Given the description of an element on the screen output the (x, y) to click on. 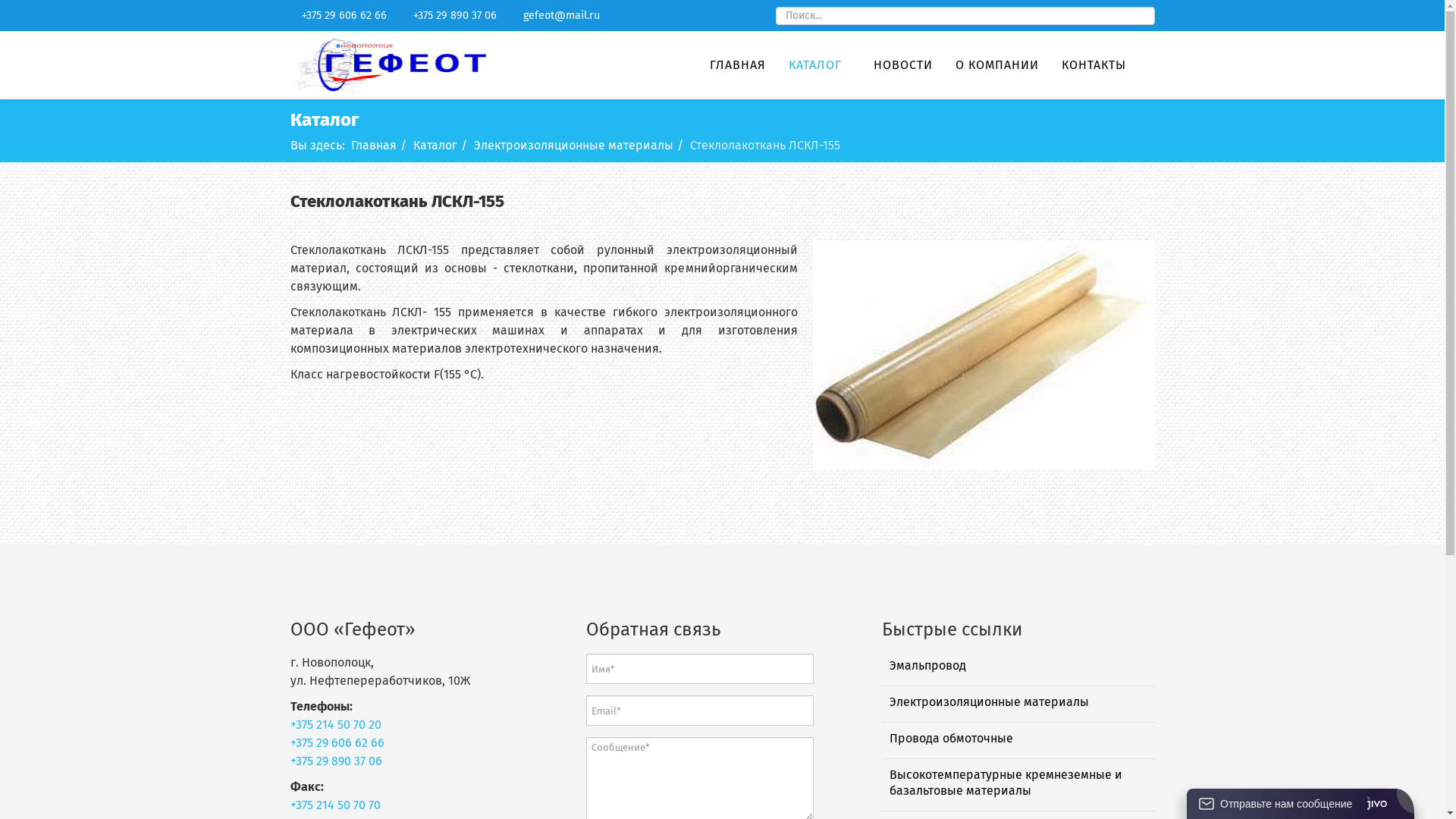
+375 29 890 37 06 Element type: text (454, 15)
+375 29 606 62 66 Element type: text (336, 742)
gefeot@mail.ru Element type: text (561, 15)
+375 29 606 62 66 Element type: text (343, 15)
+375 214 50 70 70 Element type: text (334, 804)
+375 214 50 70 20 Element type: text (334, 724)
+375 29 890 37 06 Element type: text (335, 760)
